Given the description of an element on the screen output the (x, y) to click on. 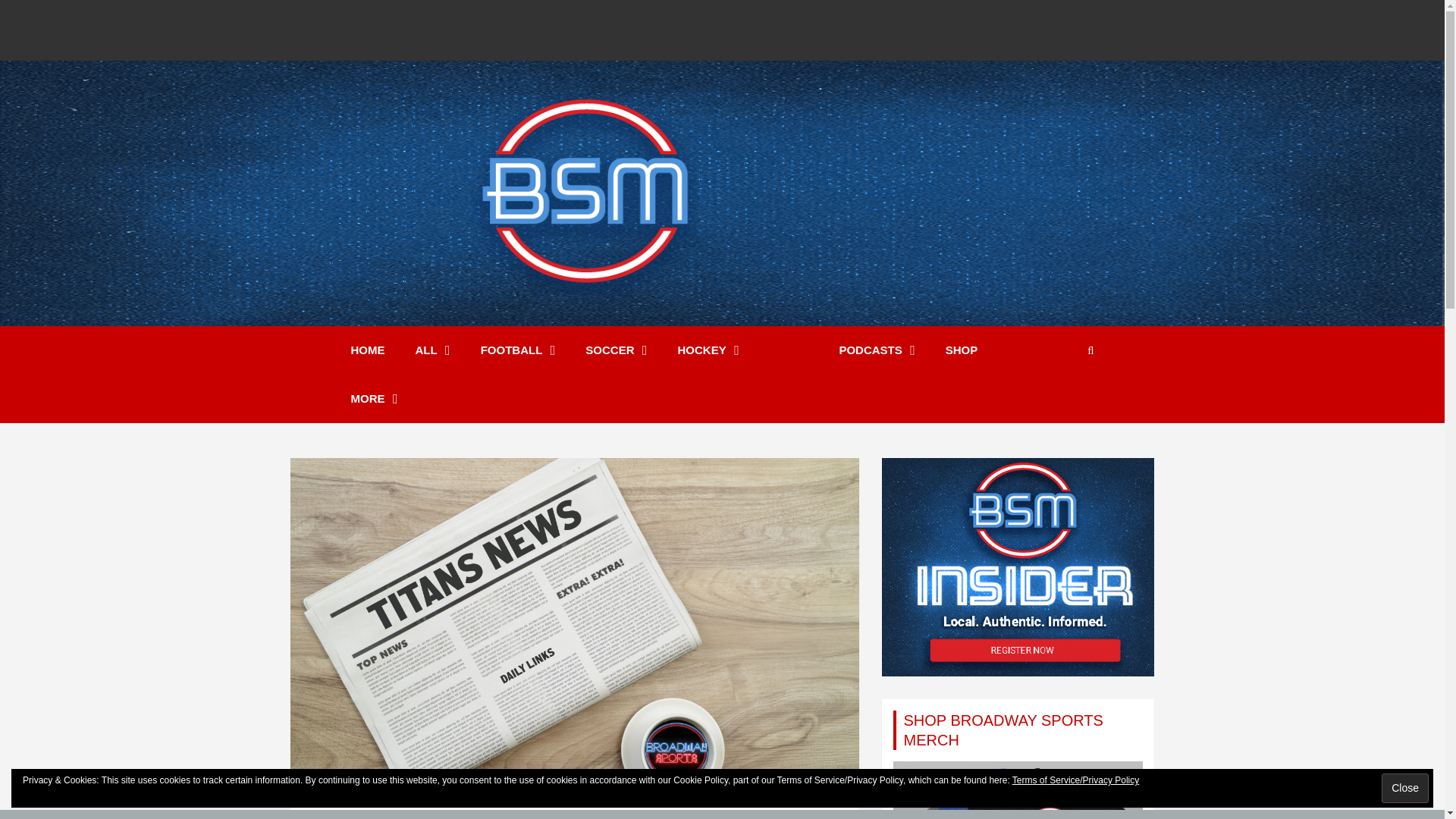
ALL (432, 349)
Broadway Sports Media (592, 334)
Close (1404, 788)
FOOTBALL (517, 349)
HOME (366, 349)
